Given the description of an element on the screen output the (x, y) to click on. 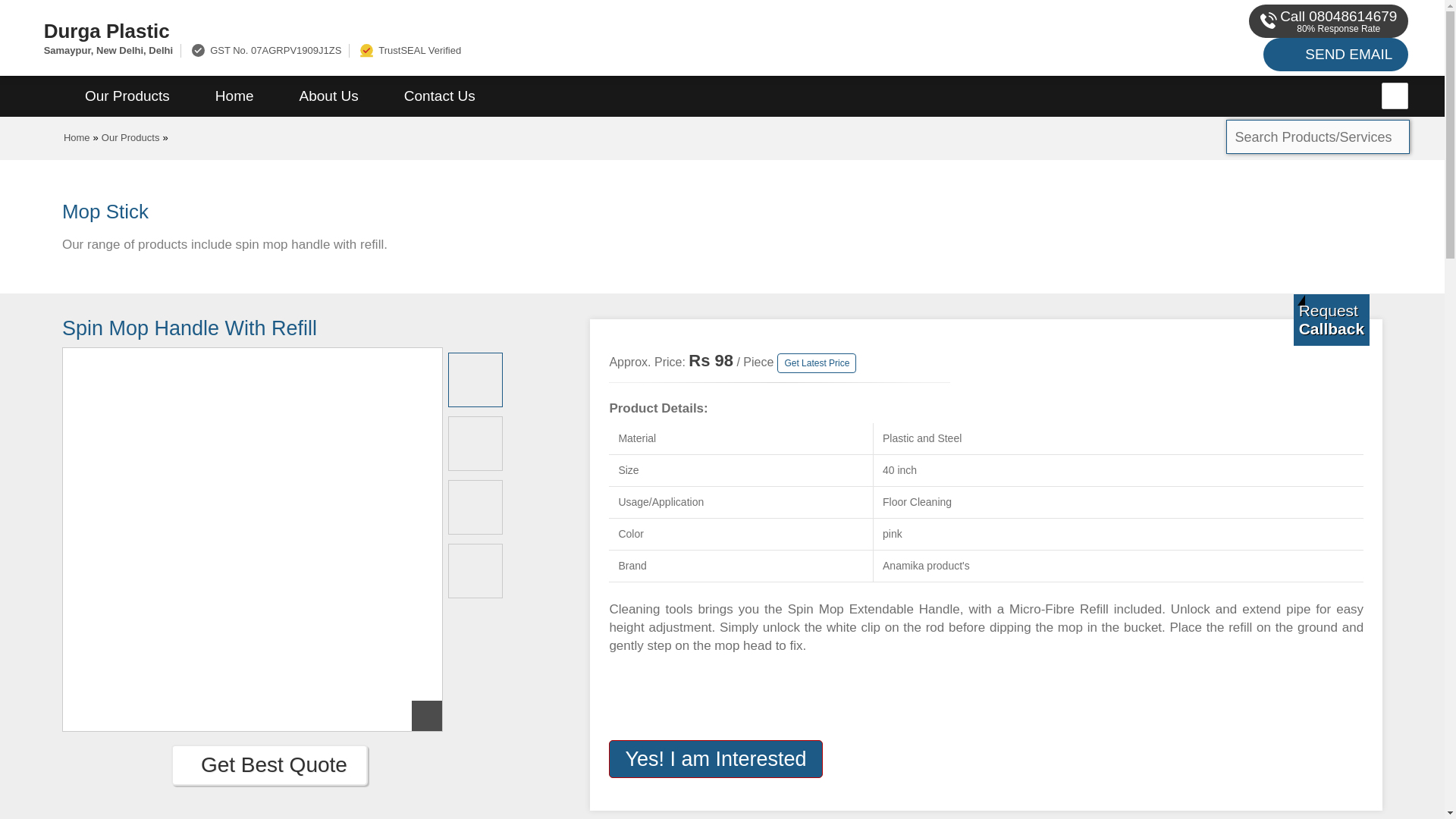
Contact Us (439, 96)
Home (234, 96)
Our Products (130, 137)
Our Products (127, 96)
About Us (328, 96)
Durga Plastic (480, 31)
Get a Call from us (1332, 319)
Home (77, 137)
